Given the description of an element on the screen output the (x, y) to click on. 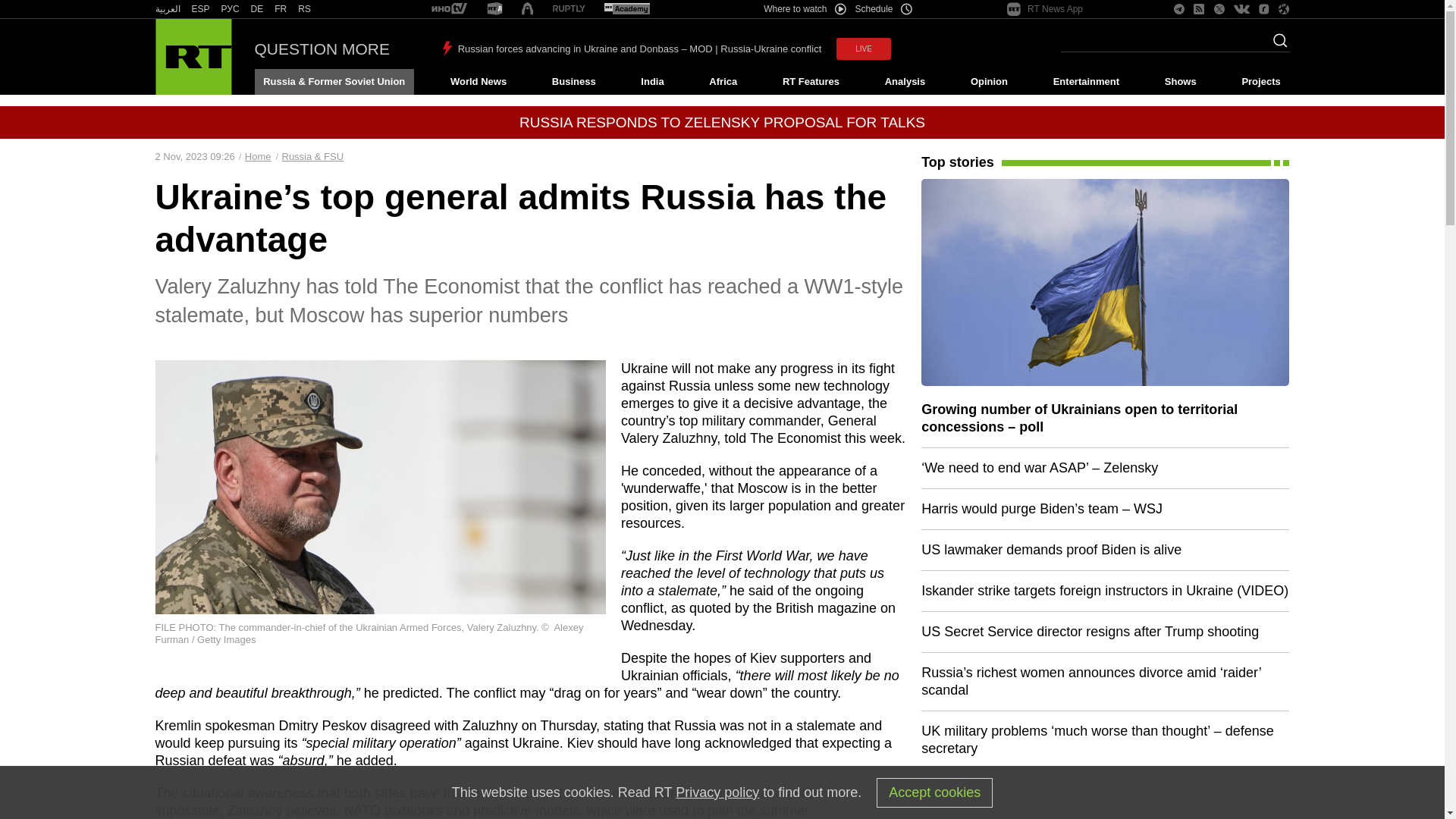
RT  (626, 9)
India (651, 81)
Projects (1261, 81)
FR (280, 9)
LIVE (863, 48)
Schedule (884, 9)
ESP (199, 9)
Analysis (905, 81)
RT  (166, 9)
Africa (722, 81)
Where to watch (803, 9)
RT  (304, 9)
RT  (494, 9)
QUESTION MORE (322, 48)
RT News App (1045, 9)
